Given the description of an element on the screen output the (x, y) to click on. 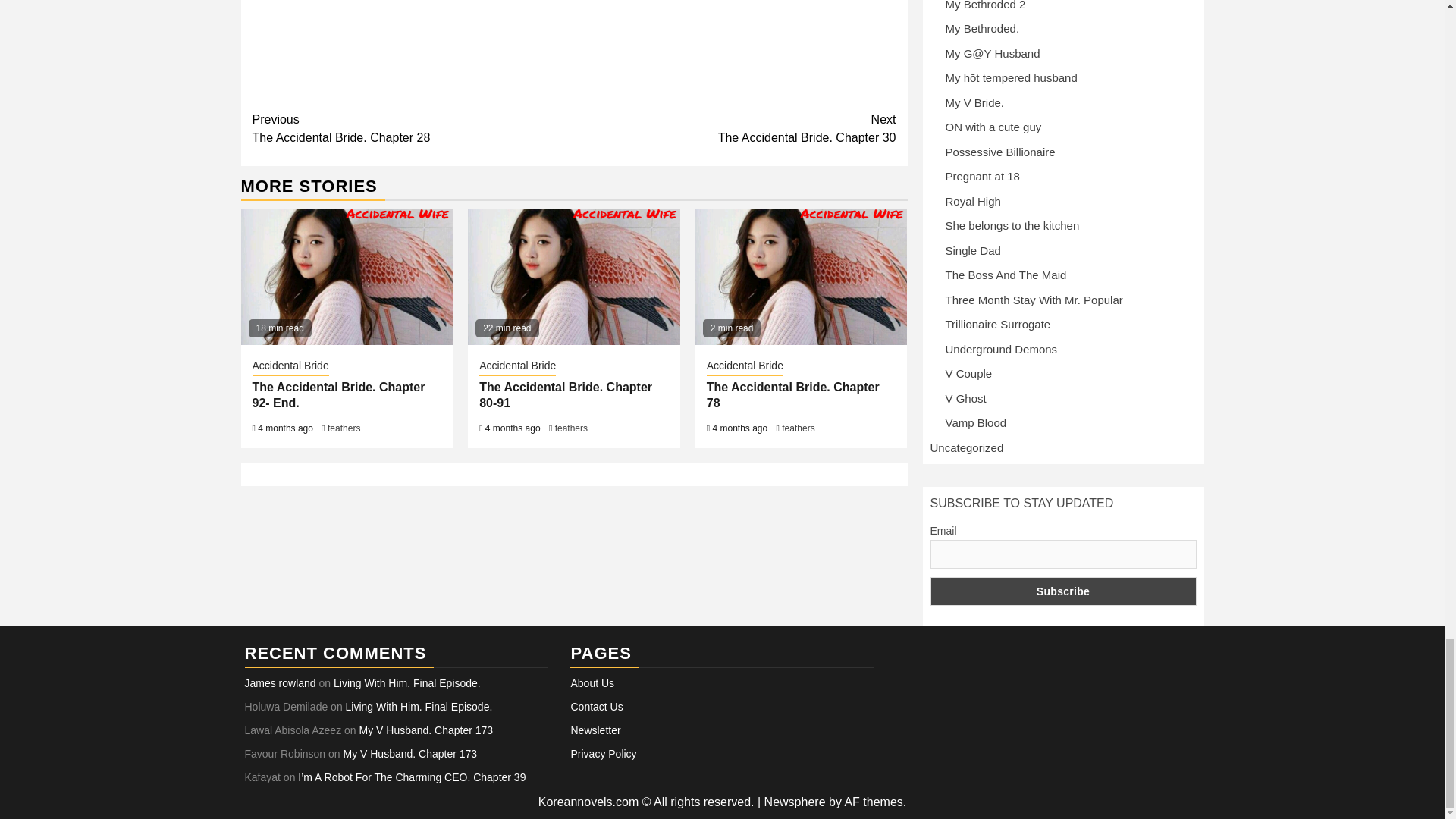
Subscribe (1062, 591)
feathers (797, 428)
Advertisement (573, 47)
The Accidental Bride. Chapter 80-91 (734, 128)
Accidental Bride (565, 394)
The Accidental Bride. Chapter 78 (412, 128)
Accidental Bride (290, 366)
Accidental Bride (792, 394)
